Given the description of an element on the screen output the (x, y) to click on. 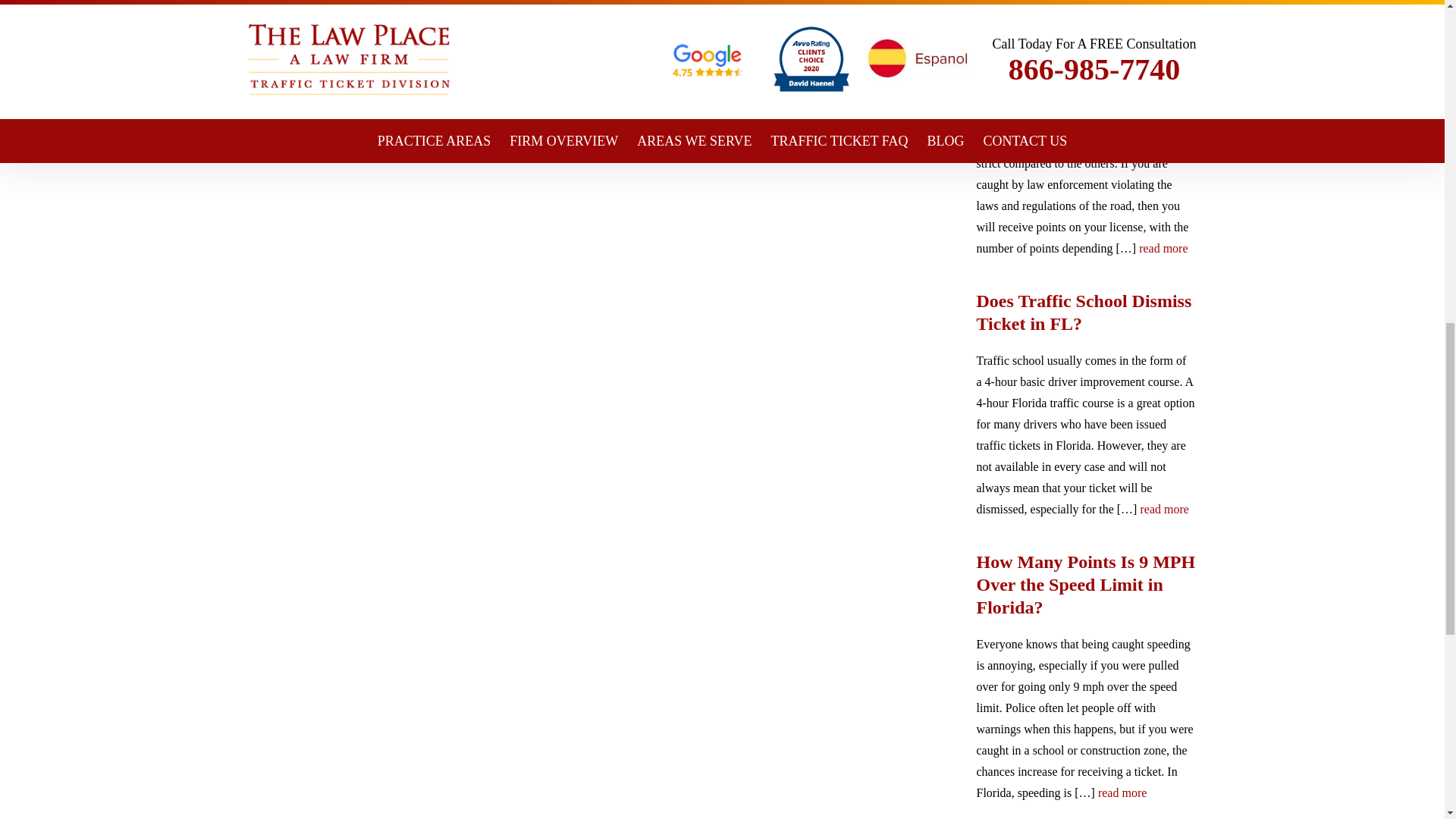
read more (1164, 509)
Does Traffic School Dismiss Ticket in FL? (1086, 311)
read more (1122, 792)
How Many Points Is 9 MPH Over the Speed Limit in Florida? (1086, 584)
read more (1163, 248)
